Given the description of an element on the screen output the (x, y) to click on. 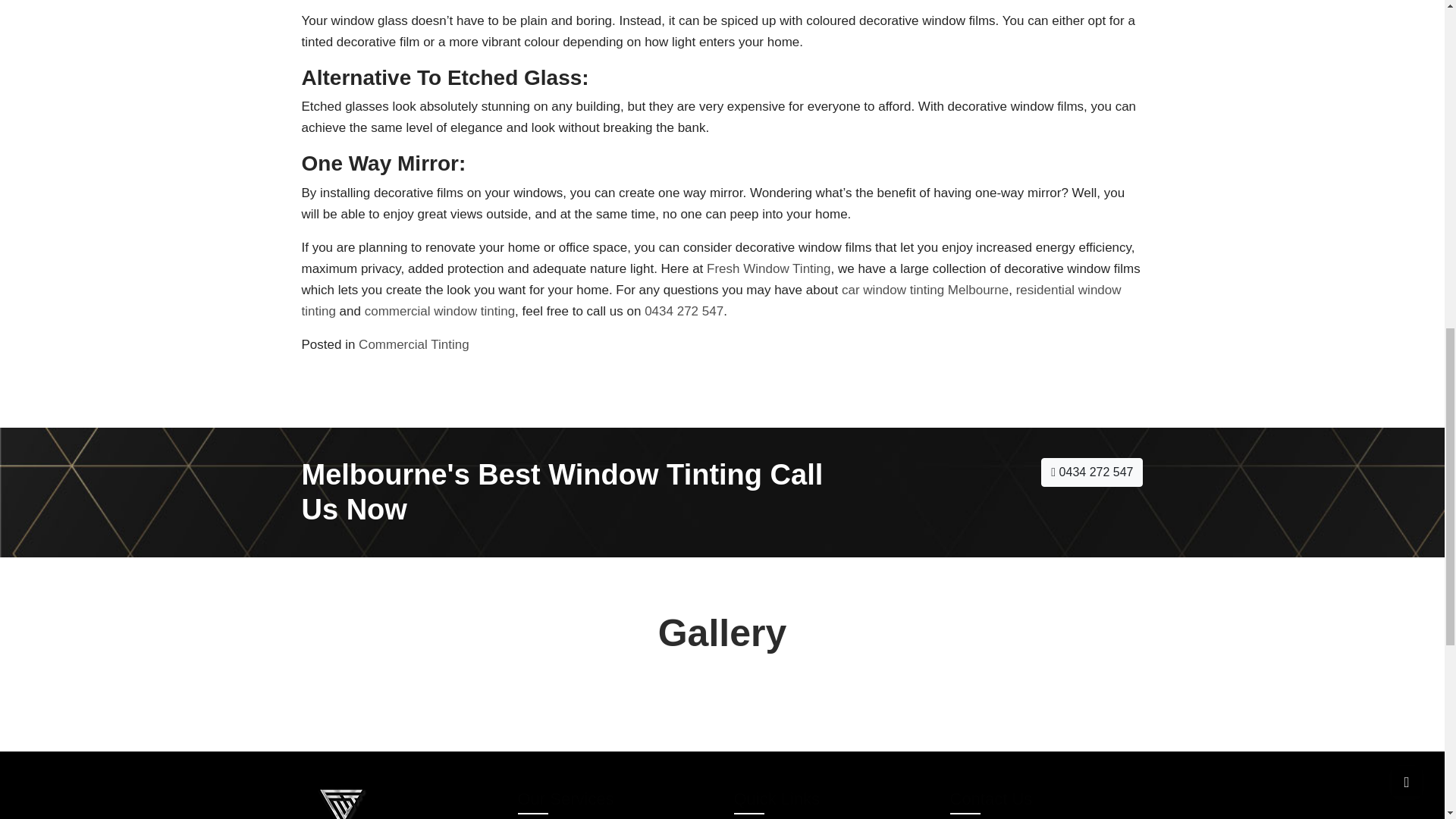
car window tinting Melbourne (925, 289)
Fresh Window Tinting (767, 268)
commercial window tinting (440, 310)
Commercial Tinting (413, 344)
residential window tinting (711, 300)
0434 272 547 (1091, 471)
0434 272 547 (684, 310)
